Given the description of an element on the screen output the (x, y) to click on. 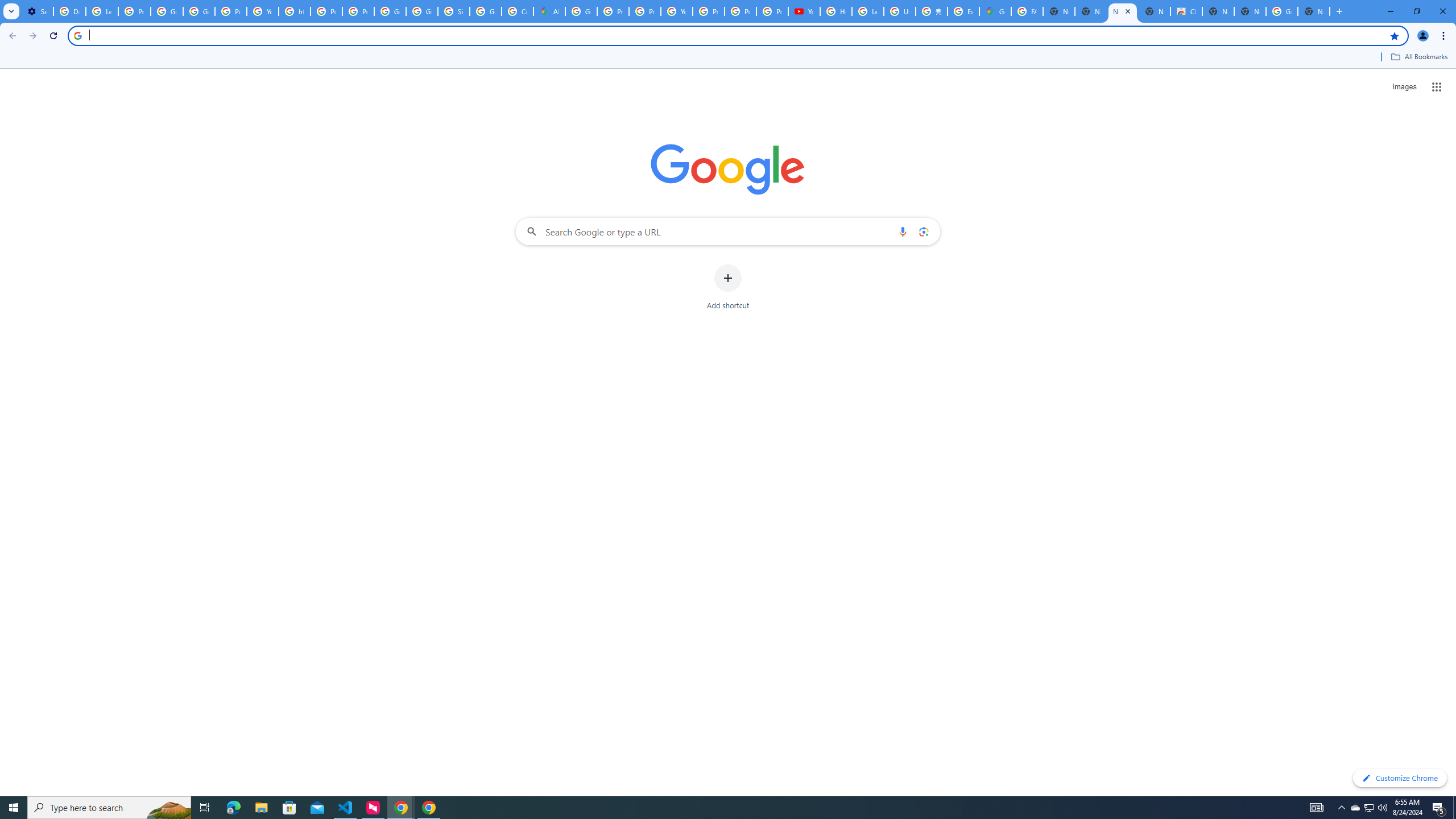
Sign in - Google Accounts (453, 11)
Chrome Web Store (1185, 11)
Search Google or type a URL (727, 230)
Privacy Help Center - Policies Help (326, 11)
YouTube (676, 11)
